Given the description of an element on the screen output the (x, y) to click on. 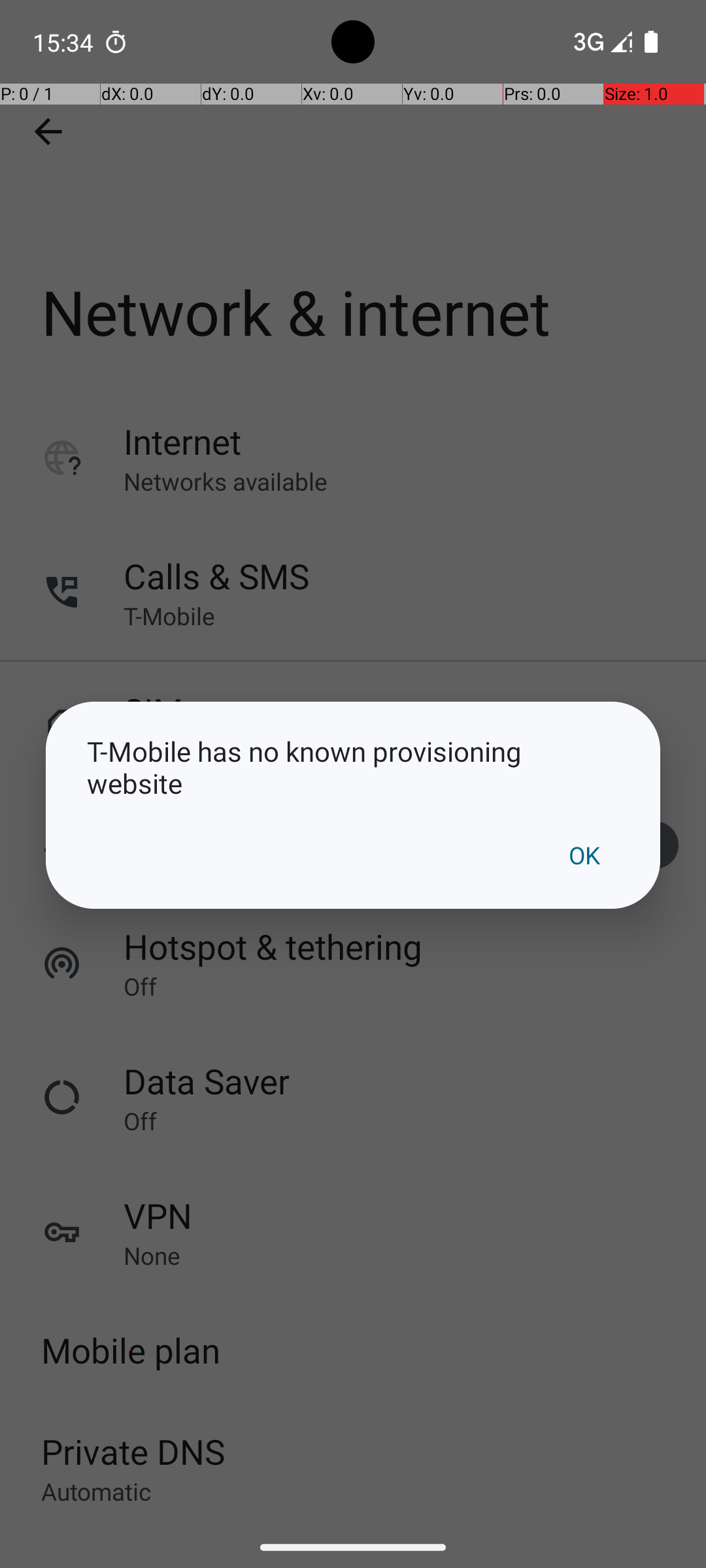
T-Mobile has no known provisioning website Element type: android.widget.TextView (352, 766)
